Given the description of an element on the screen output the (x, y) to click on. 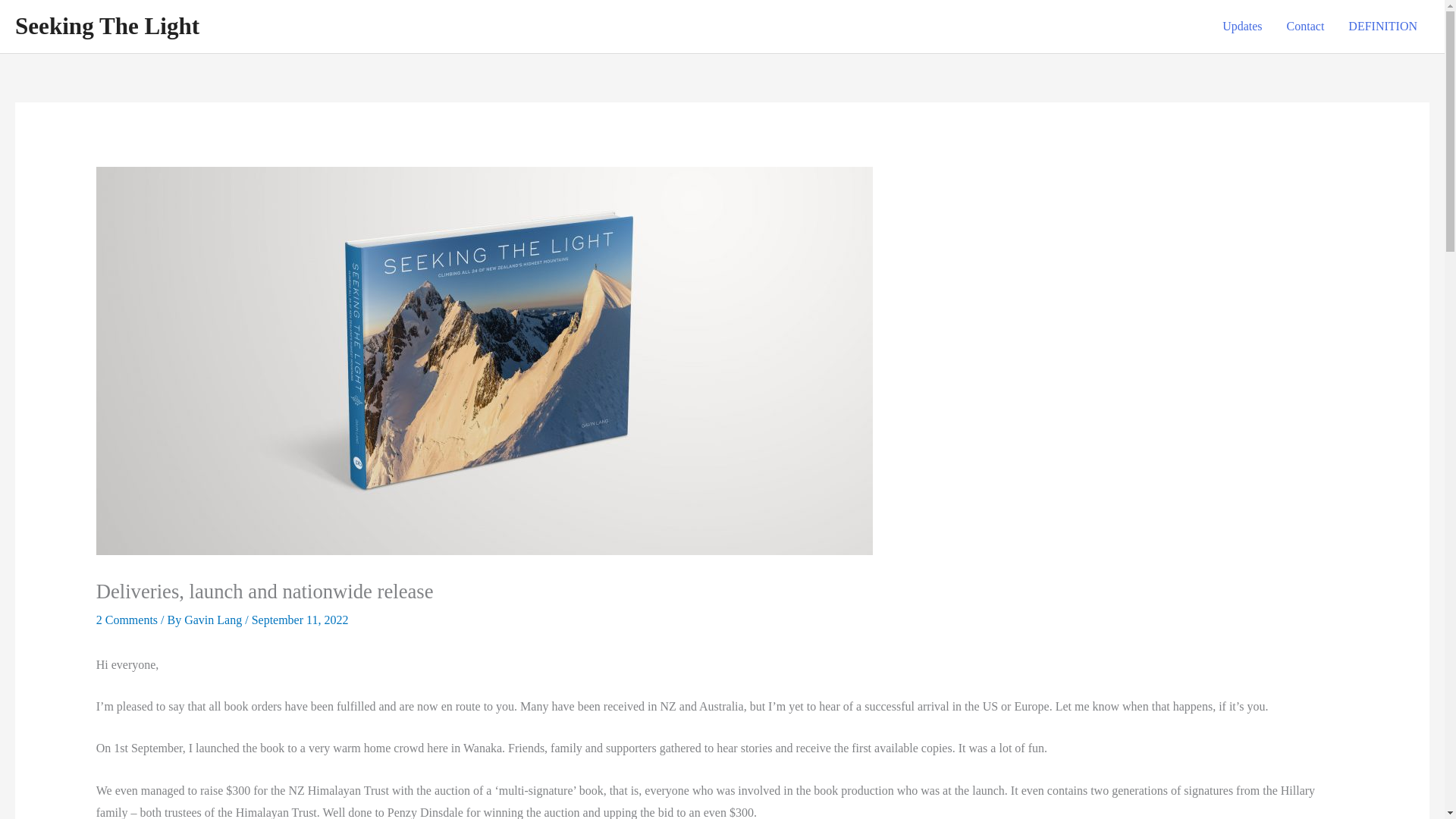
DEFINITION (1382, 26)
Seeking The Light (106, 26)
Contact (1305, 26)
Updates (1241, 26)
Gavin Lang (214, 619)
View all posts by Gavin Lang (214, 619)
2 Comments (126, 619)
